Given the description of an element on the screen output the (x, y) to click on. 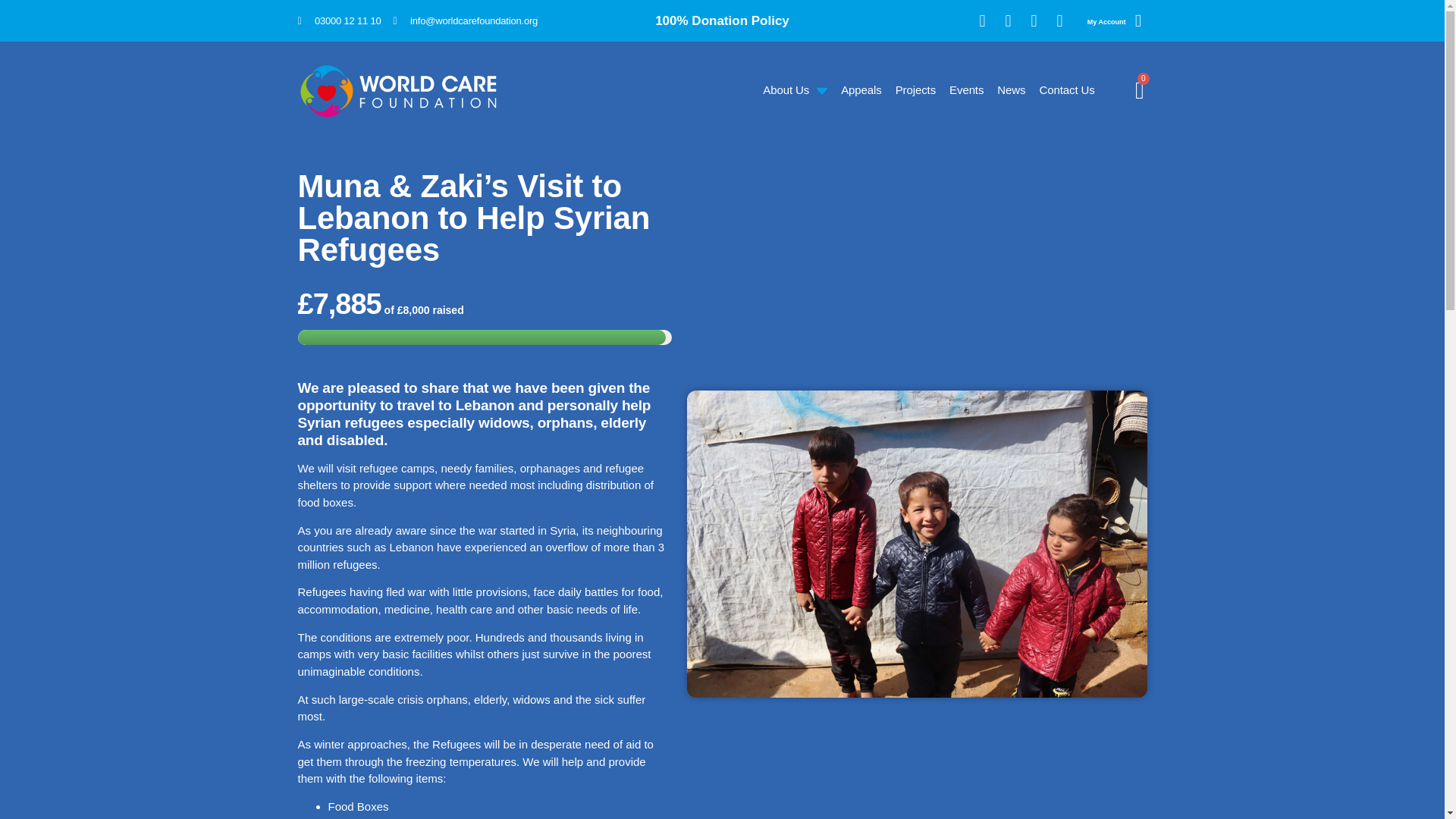
Events (966, 90)
About Us (793, 90)
Projects (915, 90)
My Account (1106, 21)
Appeals (860, 90)
Contact Us (1065, 90)
News (1010, 90)
